Given the description of an element on the screen output the (x, y) to click on. 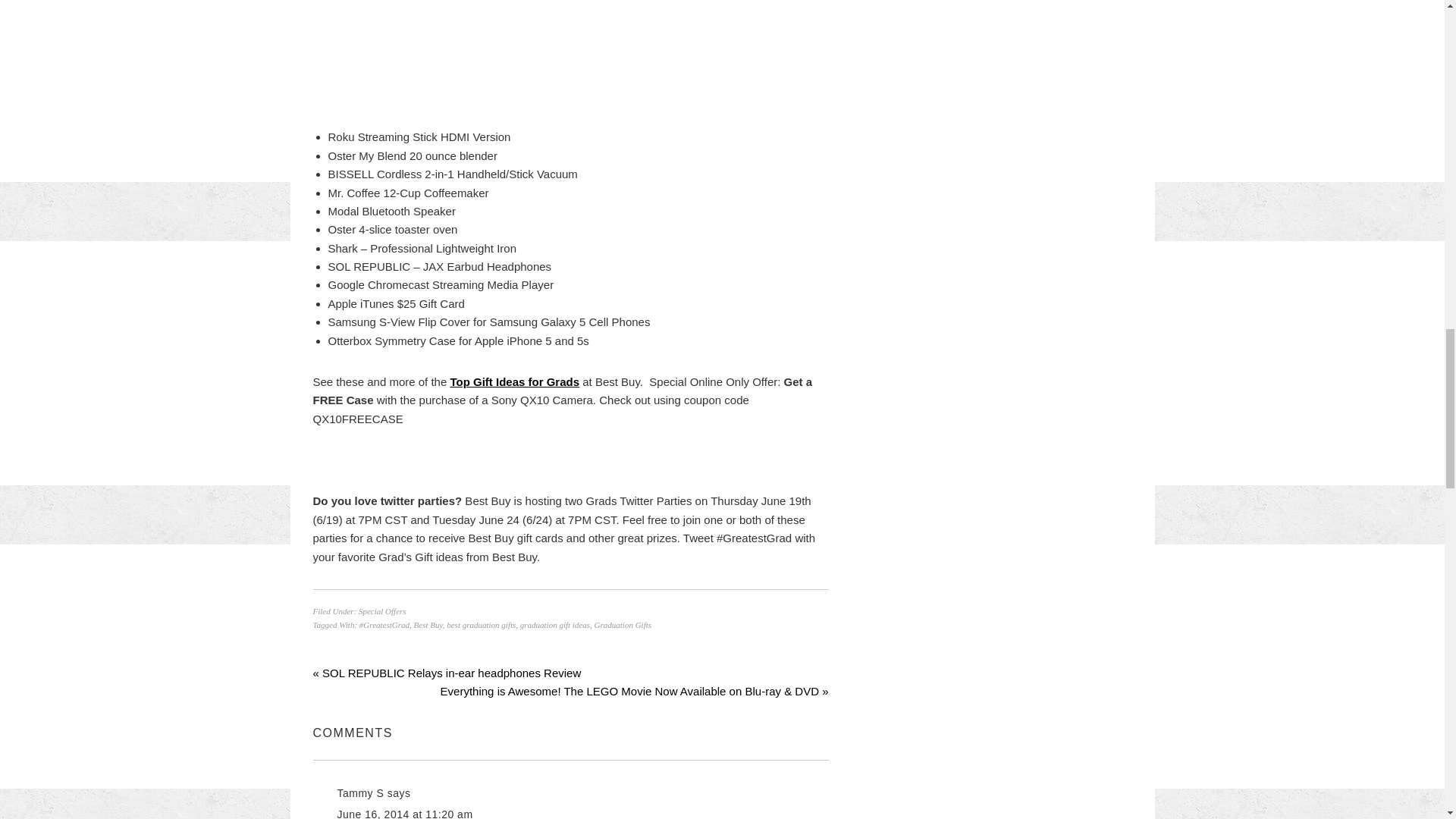
Special Offers (382, 610)
Best Buy (427, 624)
best graduation gifts (480, 624)
graduation gift ideas (554, 624)
Top Gift Ideas for Grads (514, 381)
June 16, 2014 at 11:20 am (403, 813)
Graduation Gifts (622, 624)
